Given the description of an element on the screen output the (x, y) to click on. 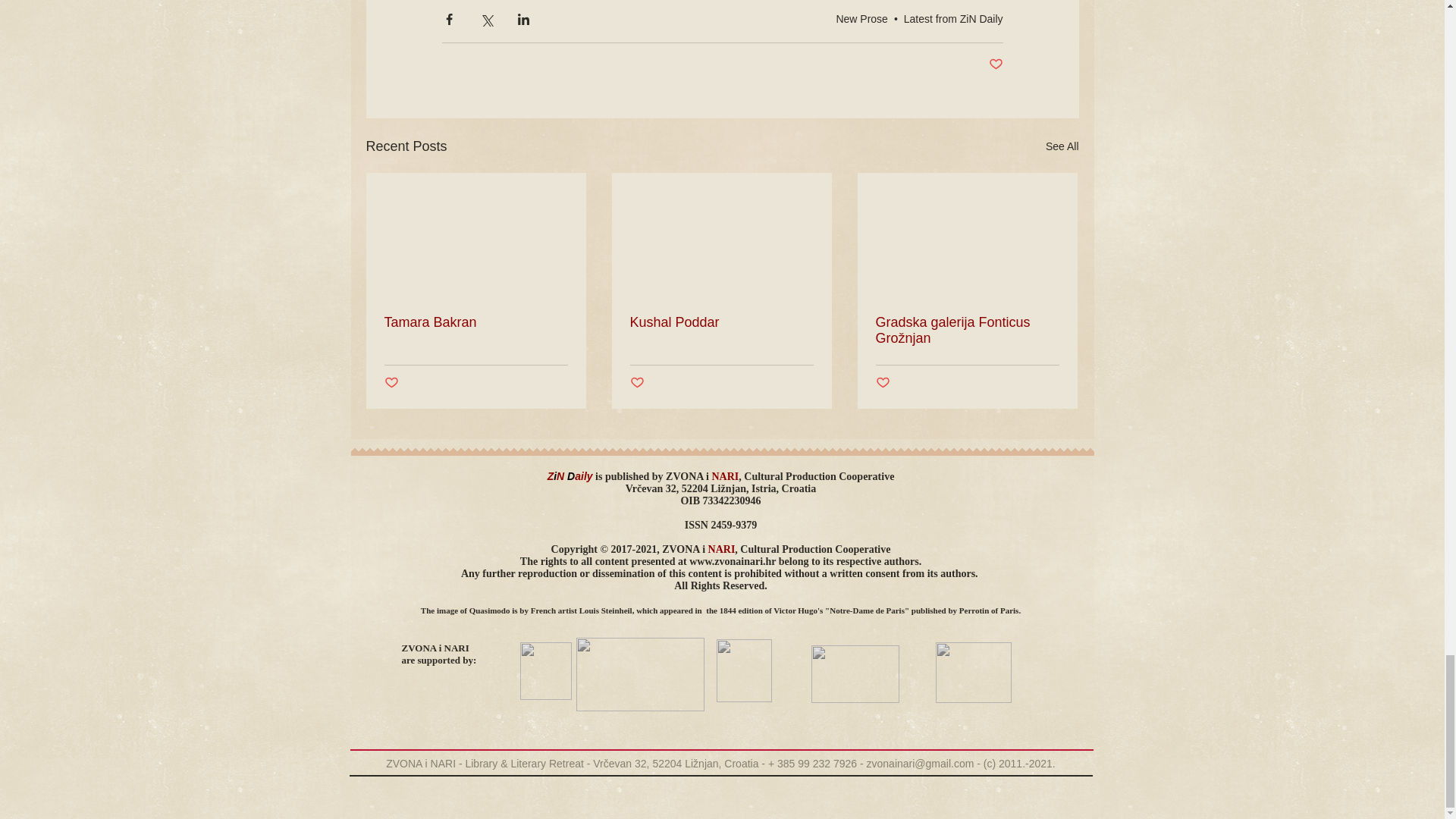
Post not marked as liked (390, 383)
Post not marked as liked (995, 64)
See All (1061, 146)
Latest from ZiN Daily (953, 19)
Tamara Bakran (475, 322)
New Prose (860, 19)
